Given the description of an element on the screen output the (x, y) to click on. 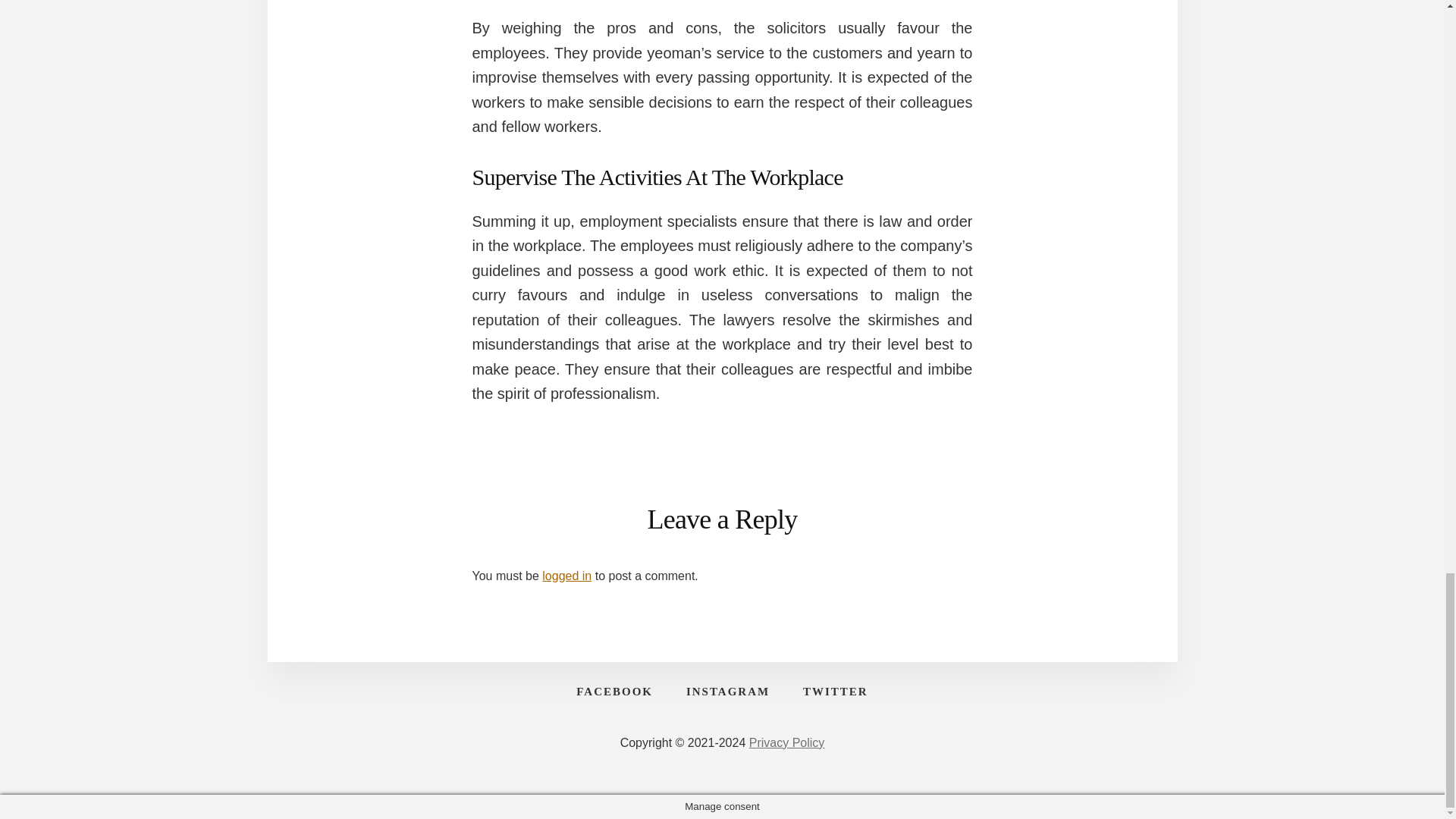
Privacy Policy (787, 742)
INSTAGRAM (727, 691)
logged in (566, 575)
TWITTER (835, 691)
FACEBOOK (614, 691)
